Given the description of an element on the screen output the (x, y) to click on. 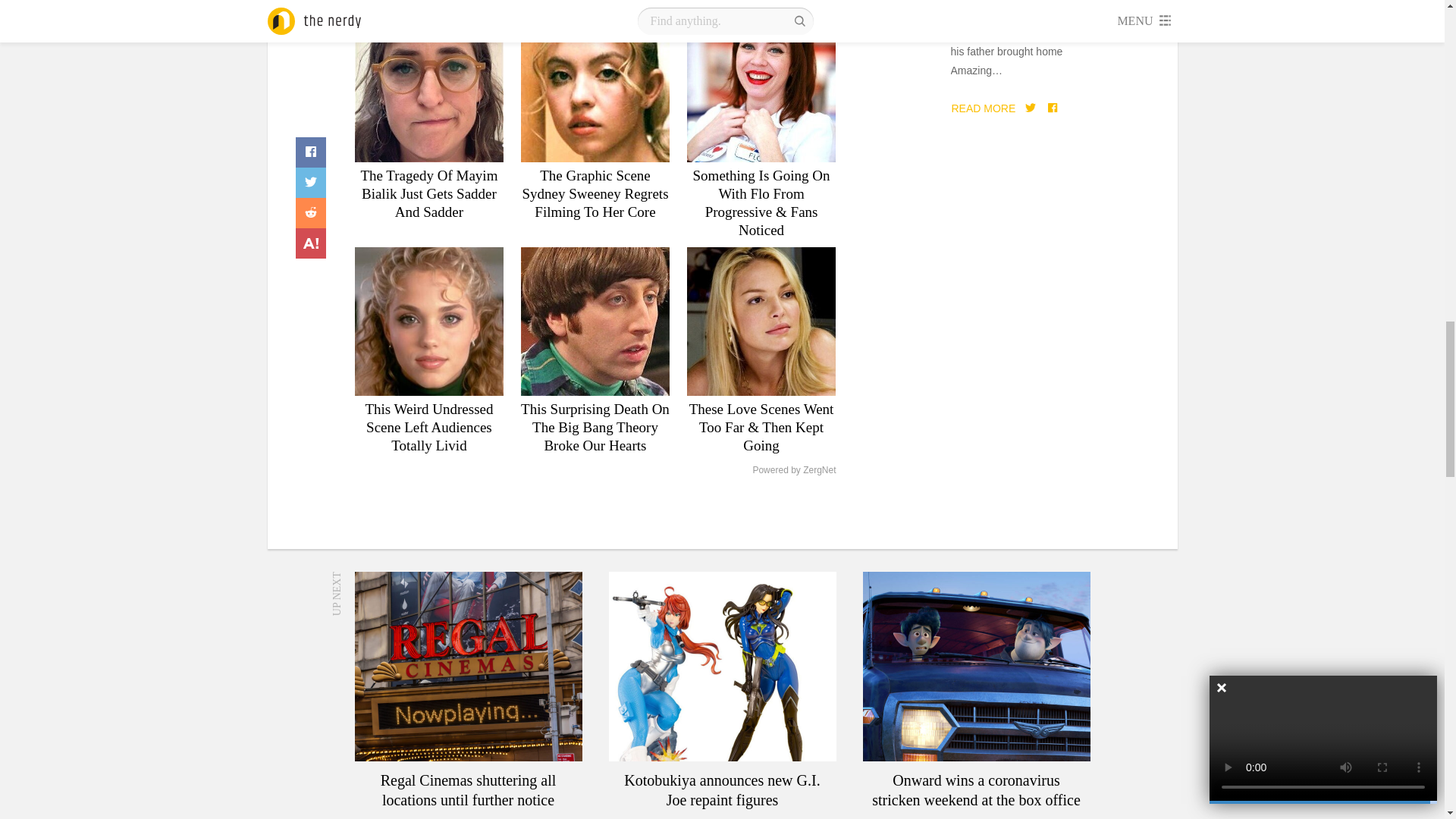
Regal Cinemas shuttering all locations until further notice (468, 666)
Kotobukiya announces new G.I. Joe repaint figures (721, 666)
Onward wins a coronavirus stricken weekend at the box office (976, 666)
